Given the description of an element on the screen output the (x, y) to click on. 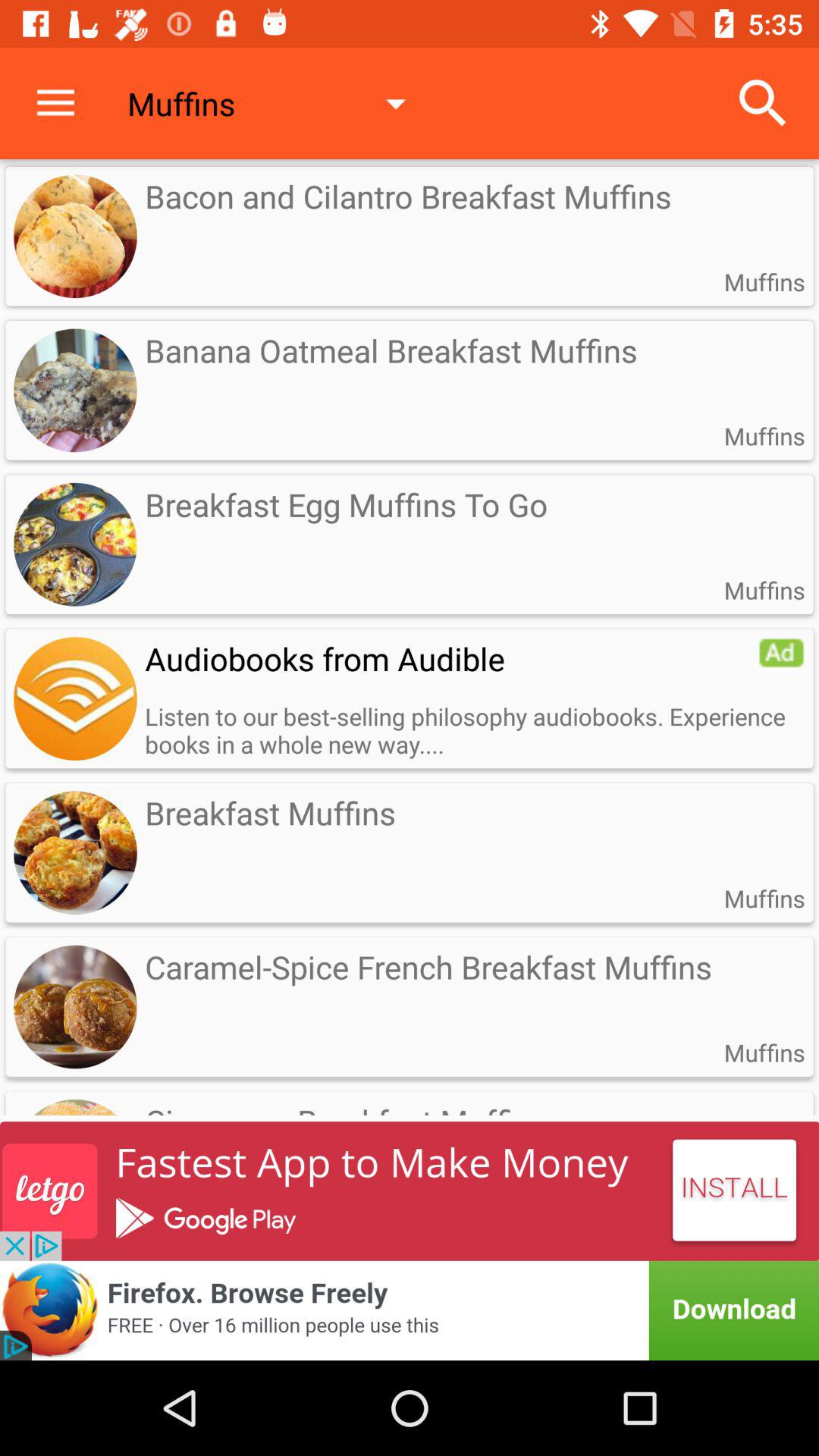
adverisement (409, 1310)
